Given the description of an element on the screen output the (x, y) to click on. 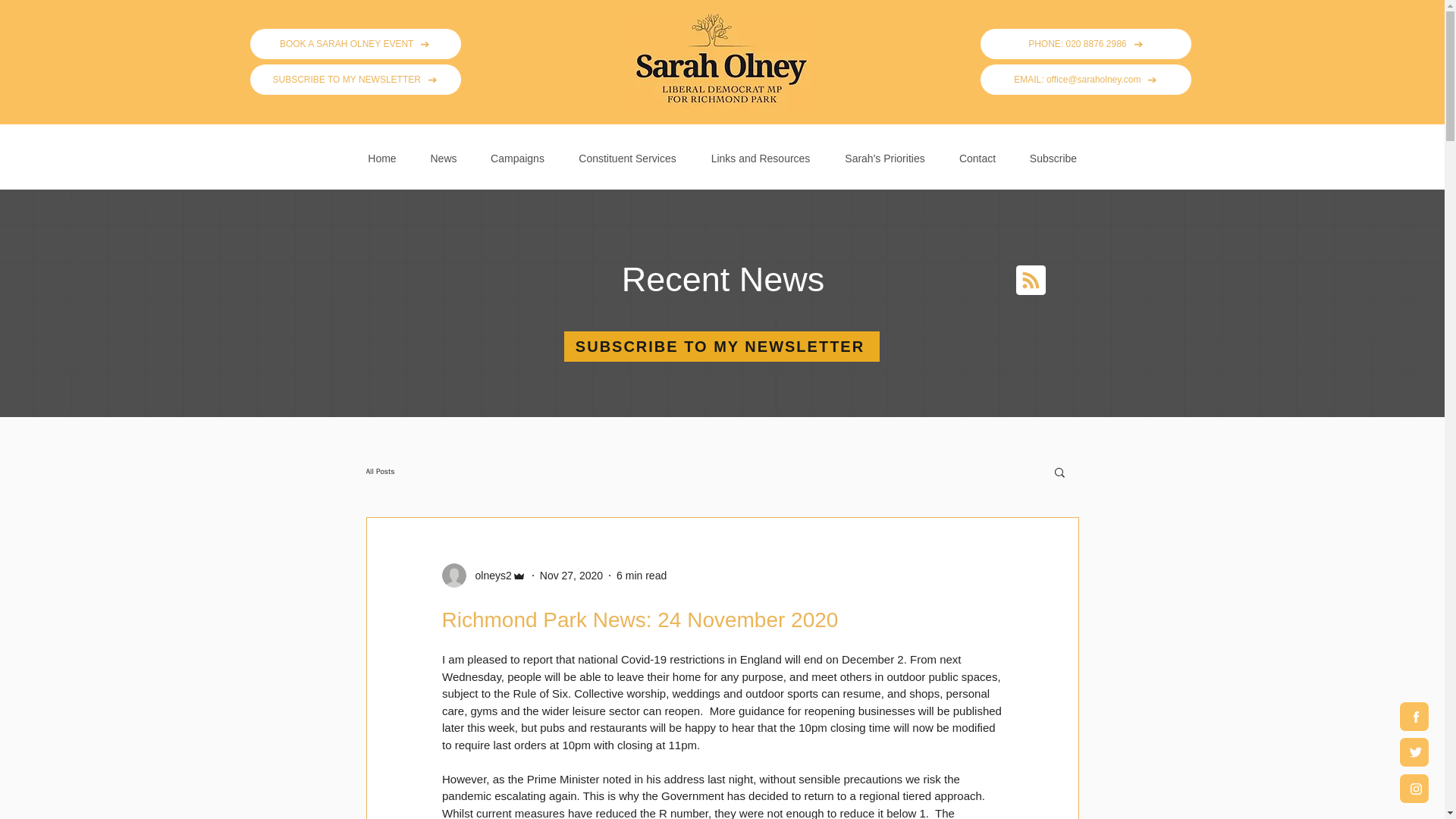
PHONE: 020 8876 2986 (1085, 43)
All Posts (379, 471)
6 min read (640, 574)
Nov 27, 2020 (571, 574)
Subscribe (1053, 151)
olneys2 (483, 575)
Contact (976, 151)
olneys2 (488, 575)
SUBSCRIBE TO MY NEWSLETTER (355, 79)
Home (381, 151)
Links and Resources (760, 151)
Constituent Services (626, 151)
News (443, 151)
SUBSCRIBE TO MY NEWSLETTER (721, 346)
BOOK A SARAH OLNEY EVENT (355, 43)
